Given the description of an element on the screen output the (x, y) to click on. 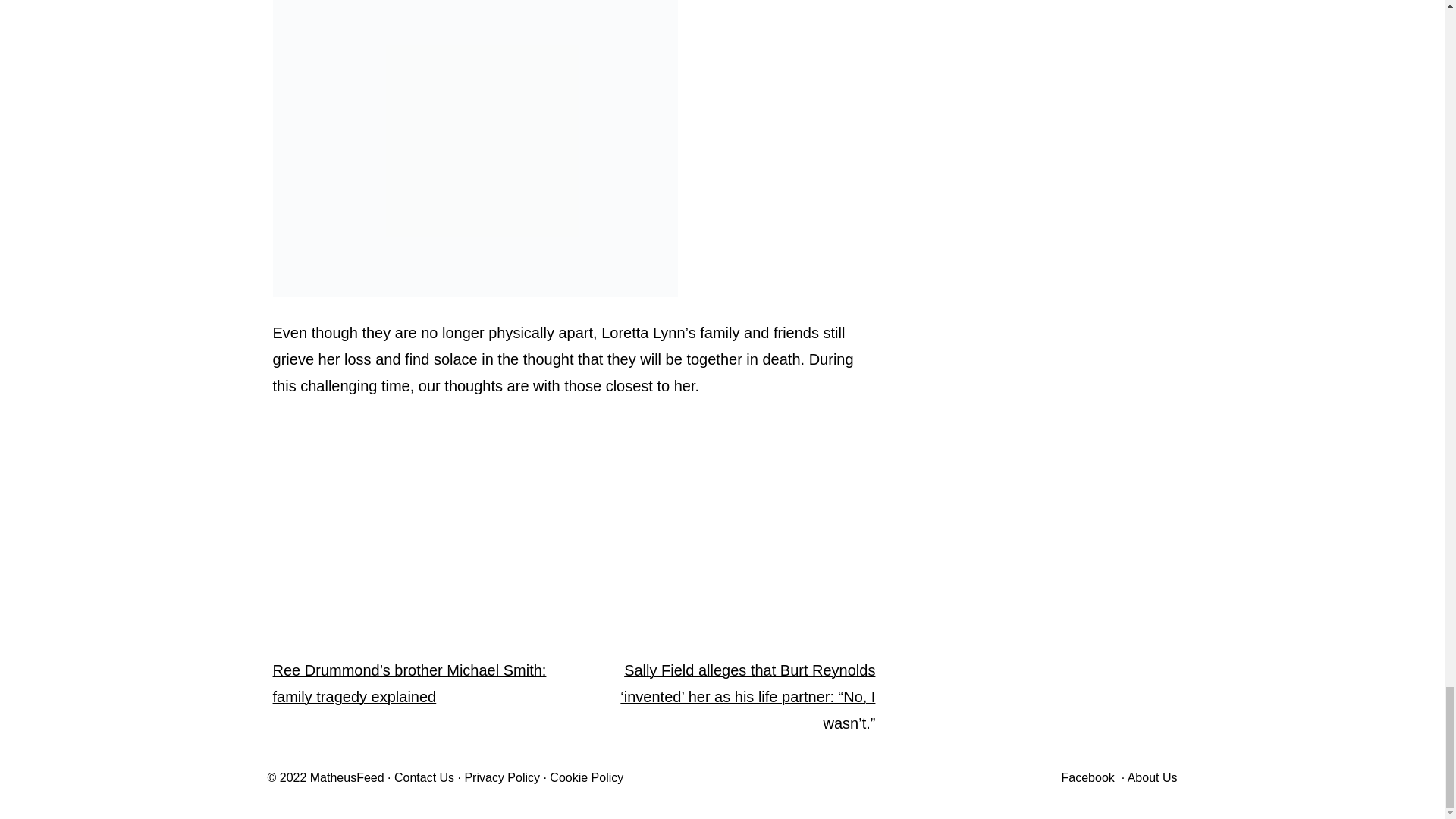
About Us (1151, 777)
Contact Us (424, 777)
Cookie Policy (586, 777)
Facebook (1088, 777)
Privacy Policy (502, 777)
